Given the description of an element on the screen output the (x, y) to click on. 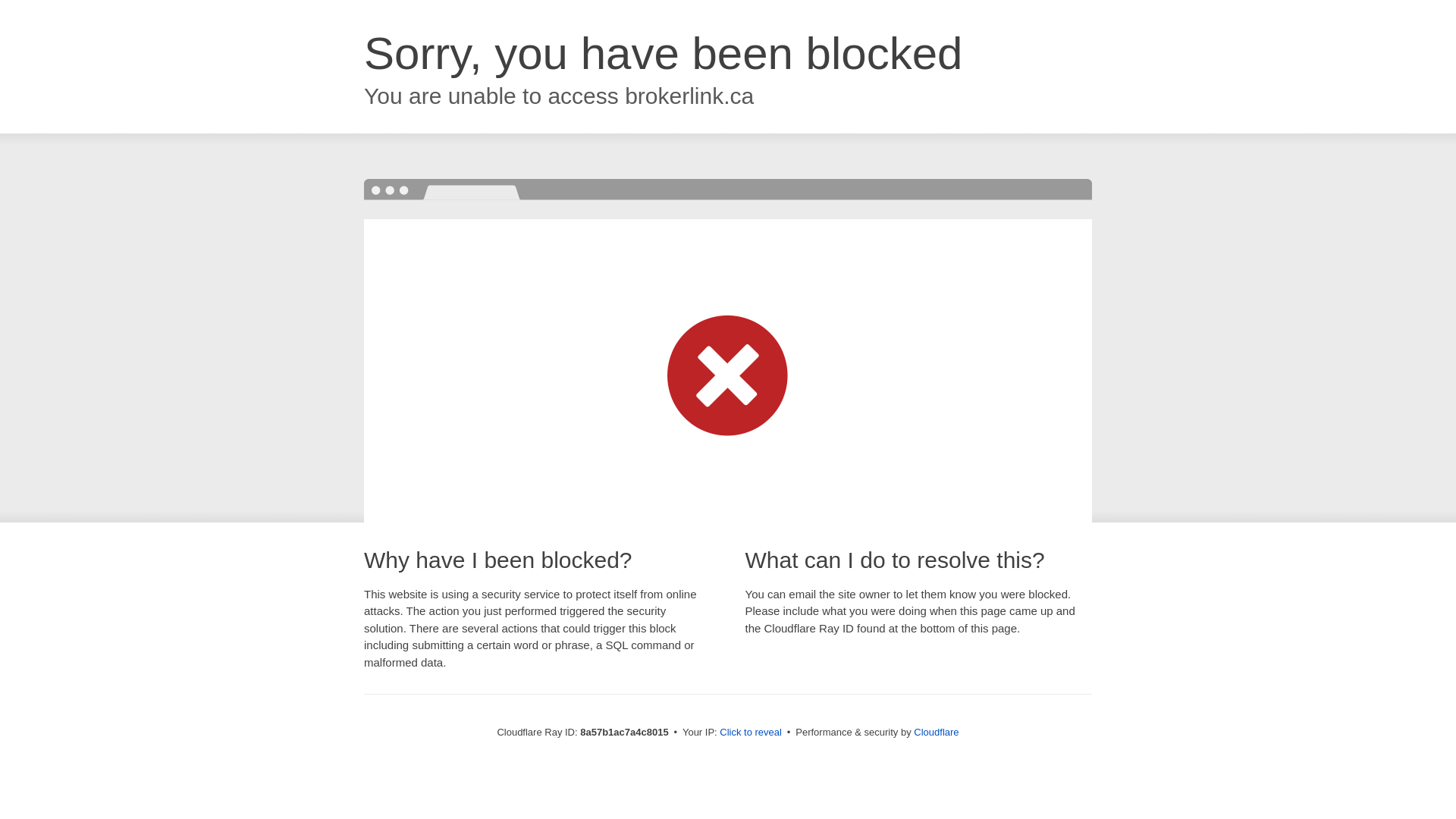
Cloudflare (936, 731)
Click to reveal (750, 732)
